Given the description of an element on the screen output the (x, y) to click on. 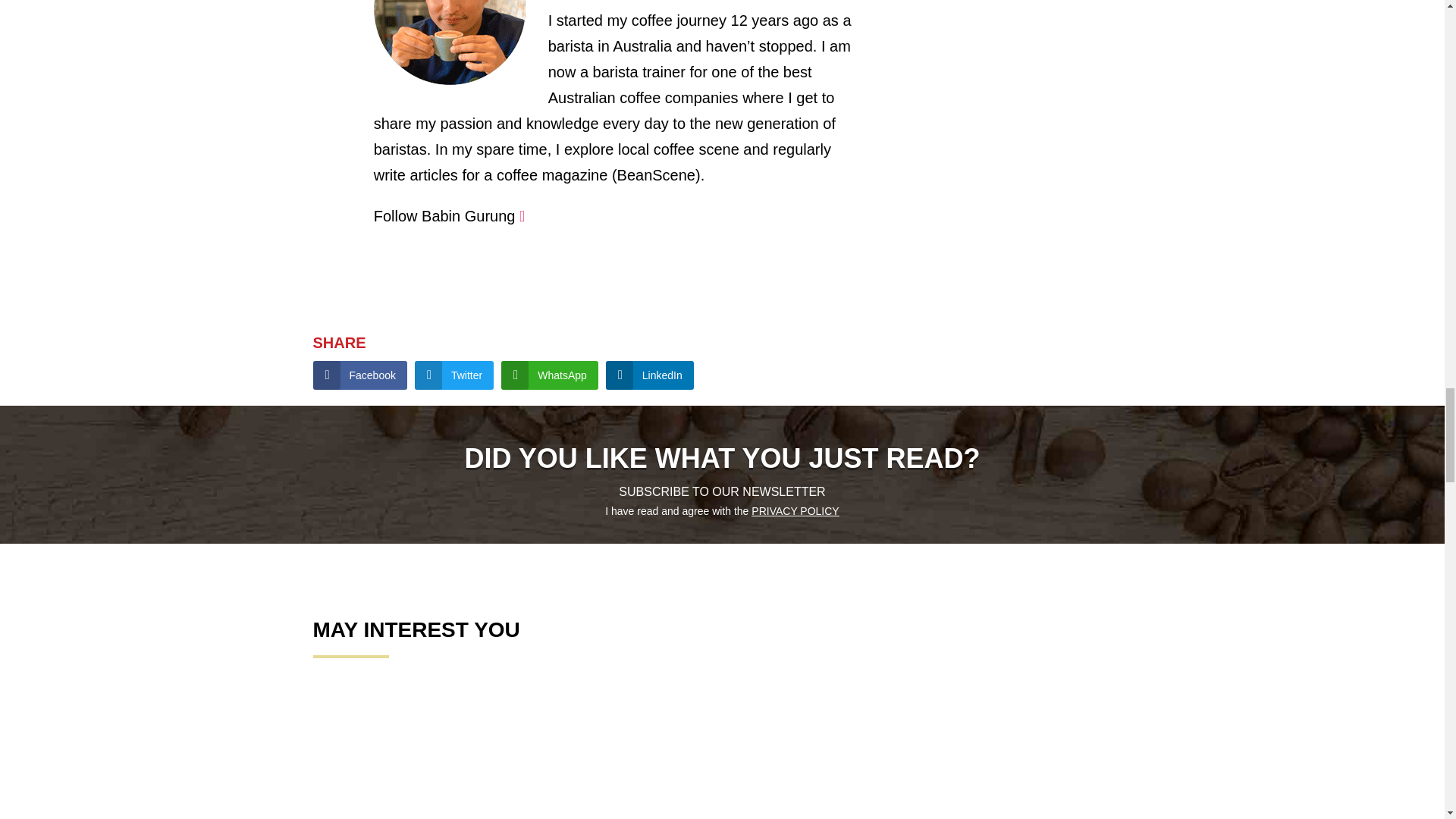
Twitter (453, 375)
Facebook (359, 375)
LinkedIn (649, 375)
WhatsApp (549, 375)
